Given the description of an element on the screen output the (x, y) to click on. 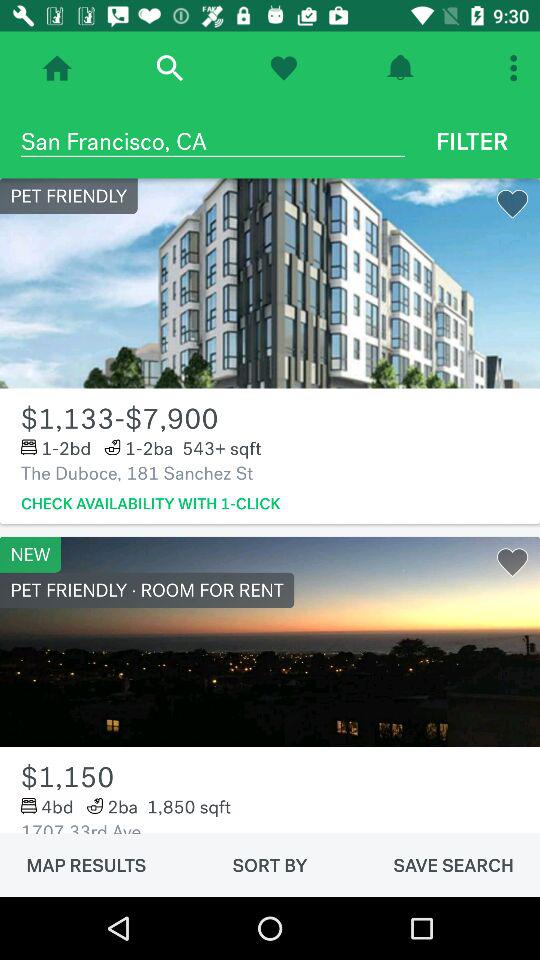
open the san francisco, ca (212, 141)
